Given the description of an element on the screen output the (x, y) to click on. 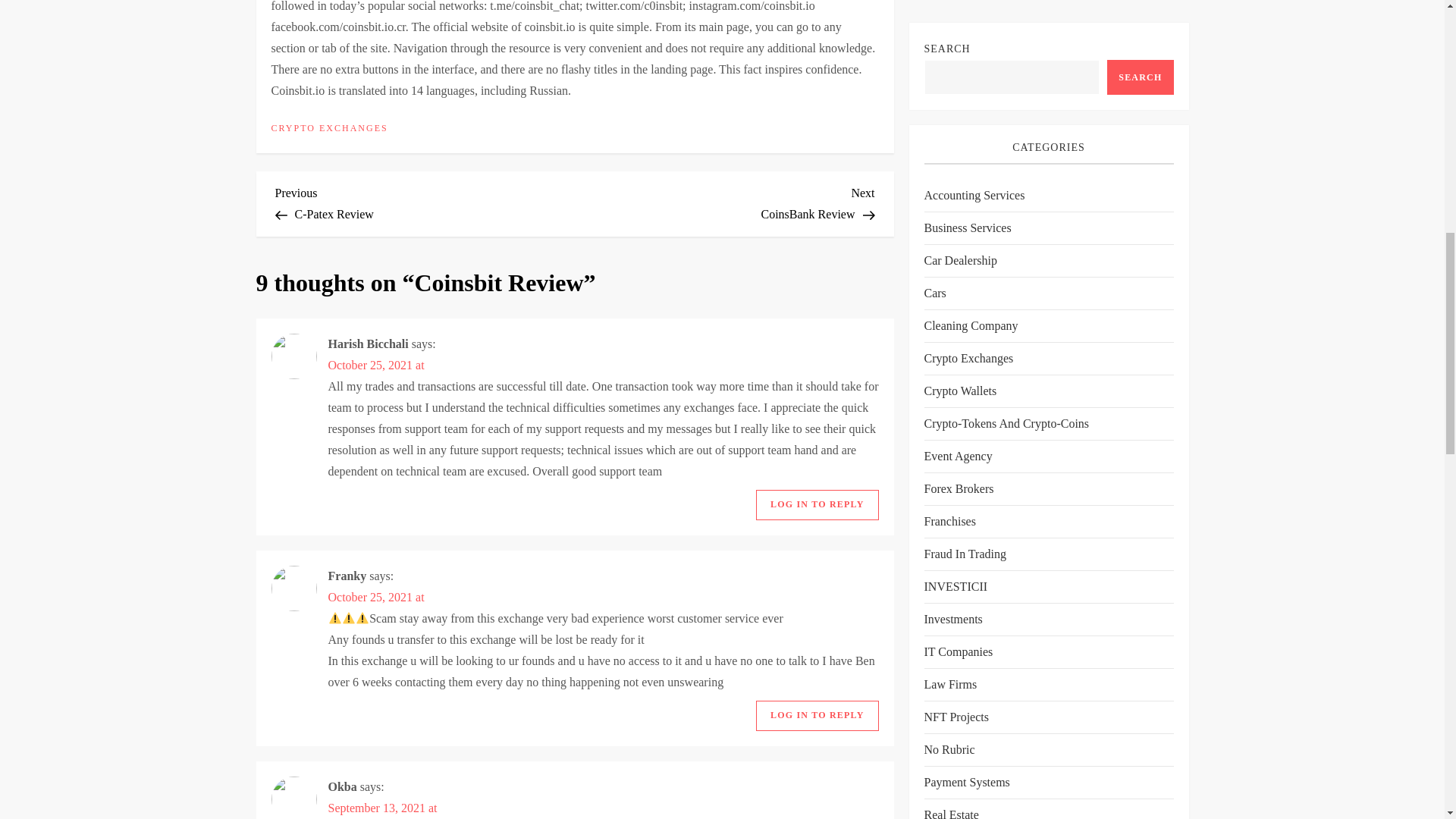
October 25, 2021 at (375, 364)
LOG IN TO REPLY (816, 716)
September 13, 2021 at (725, 201)
LOG IN TO REPLY (425, 201)
CRYPTO EXCHANGES (381, 807)
October 25, 2021 at (816, 504)
